Given the description of an element on the screen output the (x, y) to click on. 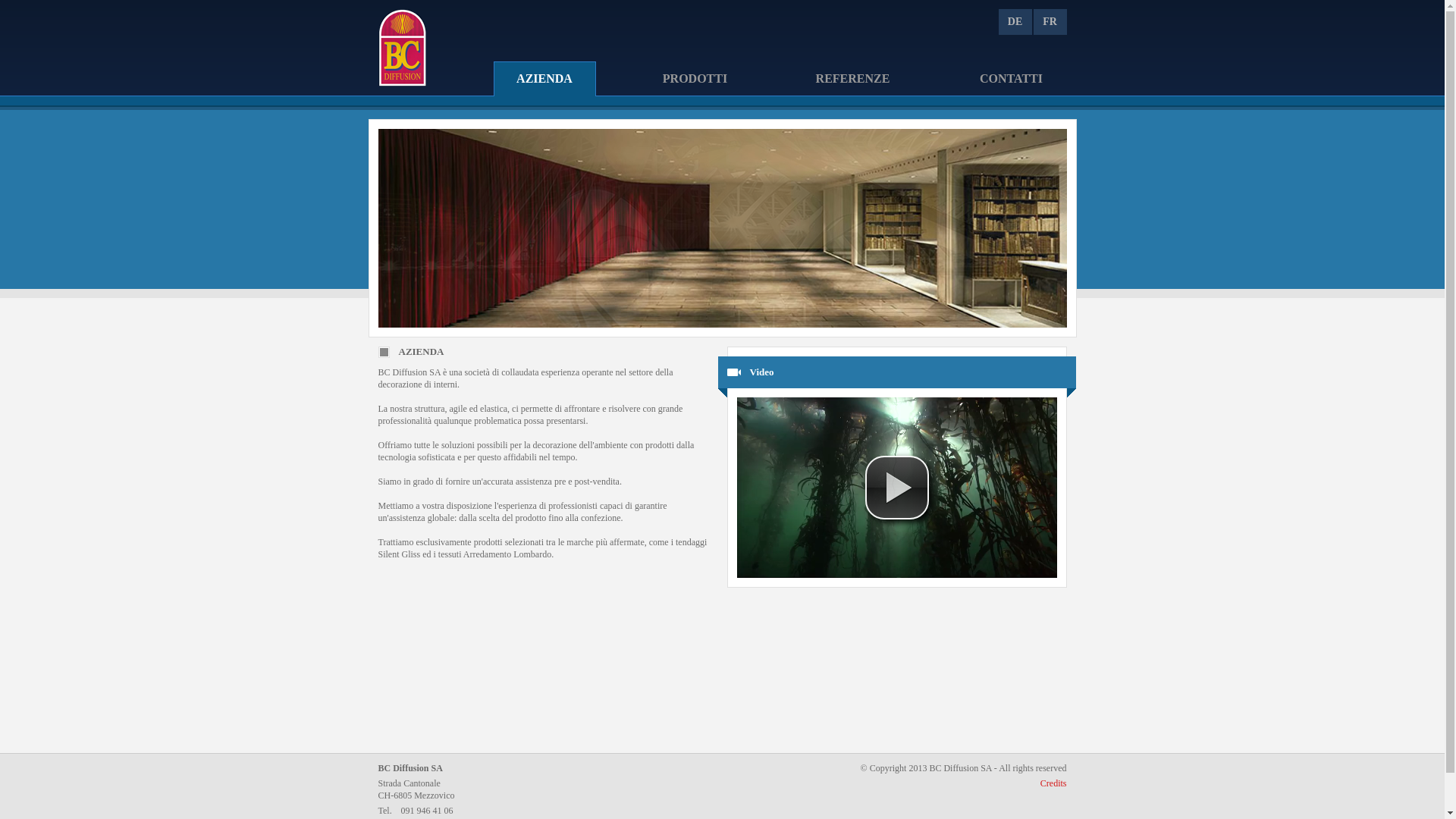
DE Element type: text (1014, 21)
FR Element type: text (1049, 21)
PRODOTTI Element type: text (695, 80)
AZIENDA Element type: text (543, 80)
REFERENZE Element type: text (852, 80)
CONTATTI Element type: text (1010, 80)
Credits Element type: text (1053, 783)
